Given the description of an element on the screen output the (x, y) to click on. 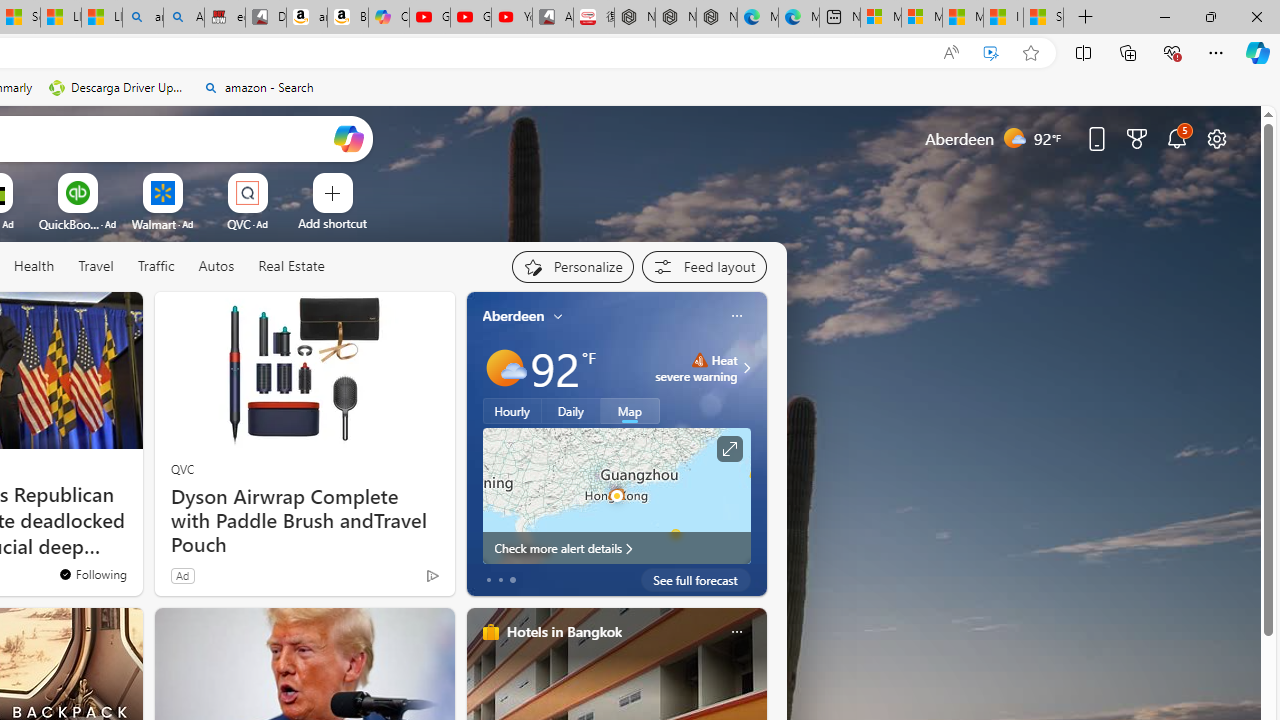
QVC (182, 468)
Click to see more information (728, 449)
Map (630, 411)
Class: icon-img (736, 632)
Real Estate (291, 265)
Enhance video (991, 53)
Close (1256, 16)
Nordace Comino Totepack (634, 17)
Check more alert details (616, 547)
Restore (1210, 16)
Dyson Airwrap Complete with Paddle Brush andTravel Pouch (304, 521)
Personalize your feed" (571, 266)
Add a site (332, 223)
